Given the description of an element on the screen output the (x, y) to click on. 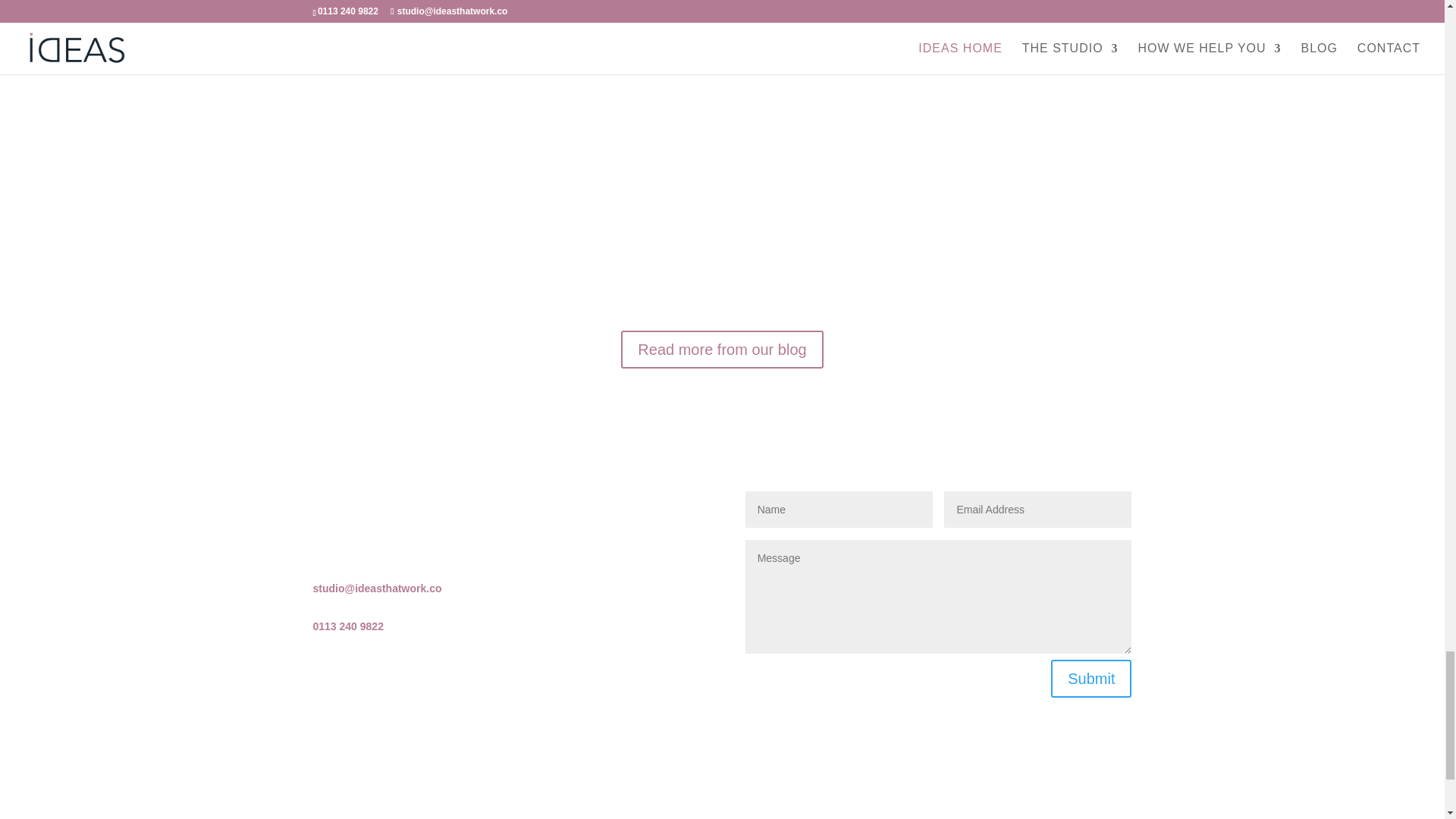
0113 240 9822 (347, 625)
Submit (1091, 678)
Read more from our blog (721, 349)
